Given the description of an element on the screen output the (x, y) to click on. 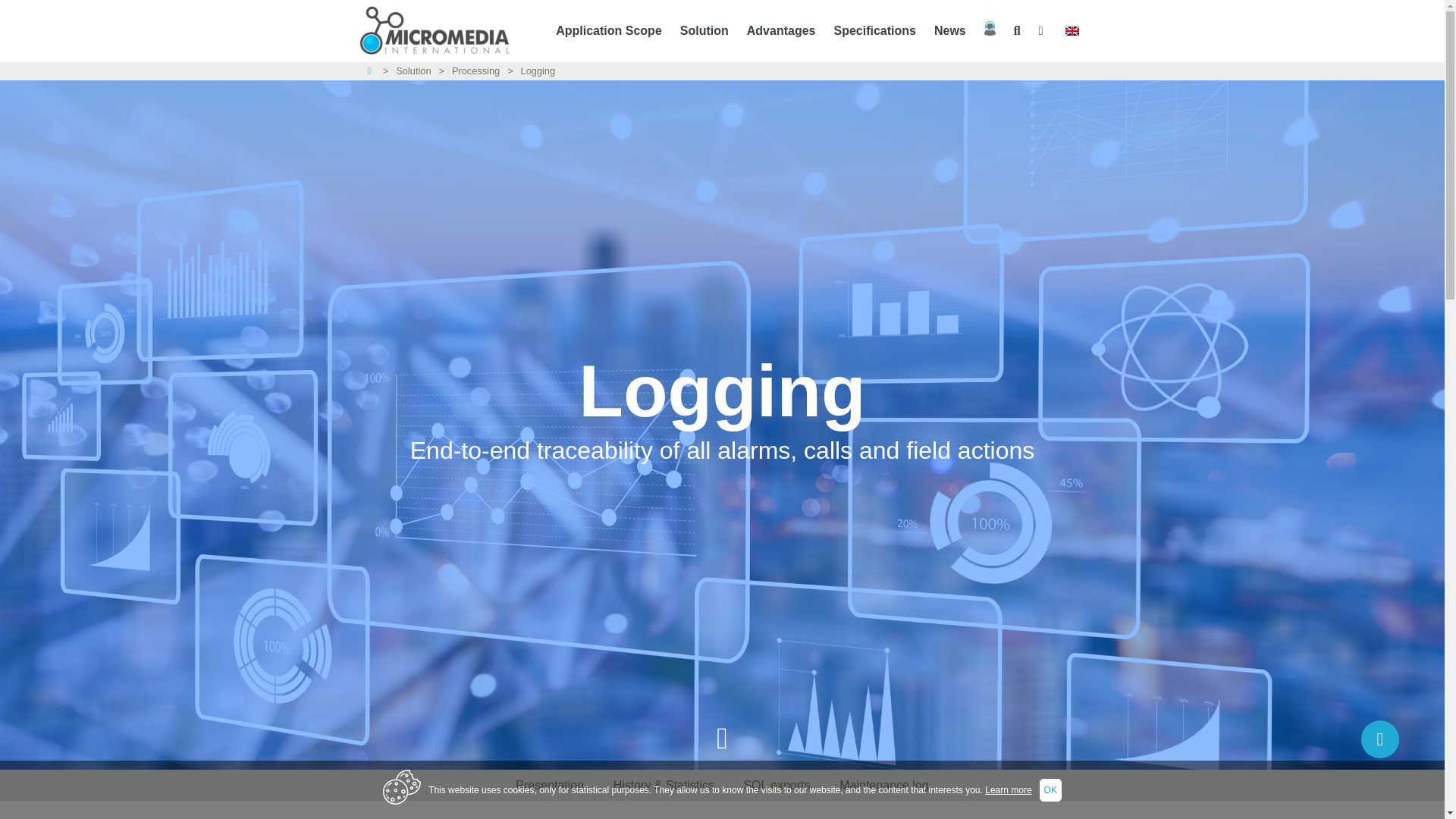
SQL exports (776, 785)
Advantages (781, 31)
Solution (704, 31)
Application Scope (609, 31)
Maintenance log (883, 785)
English (1071, 31)
Specifications (874, 31)
Presentation (549, 785)
